Given the description of an element on the screen output the (x, y) to click on. 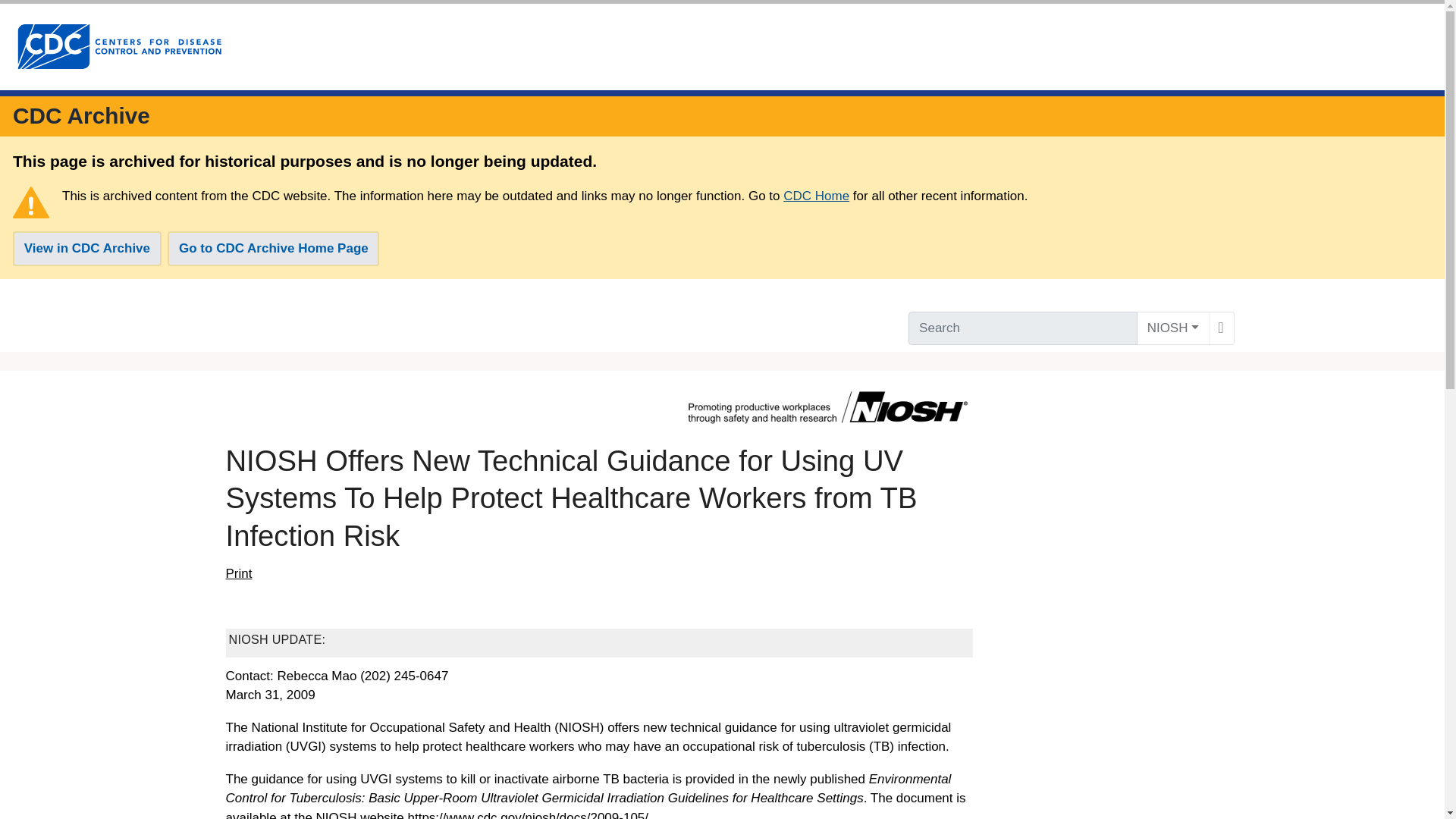
Print (238, 573)
Go to CDC Archive Home Page (272, 248)
NIOSH (1173, 328)
CDC Home (815, 196)
CDC Archive Home (81, 115)
View in CDC Archive (87, 248)
CDC Archive (81, 115)
